Given the description of an element on the screen output the (x, y) to click on. 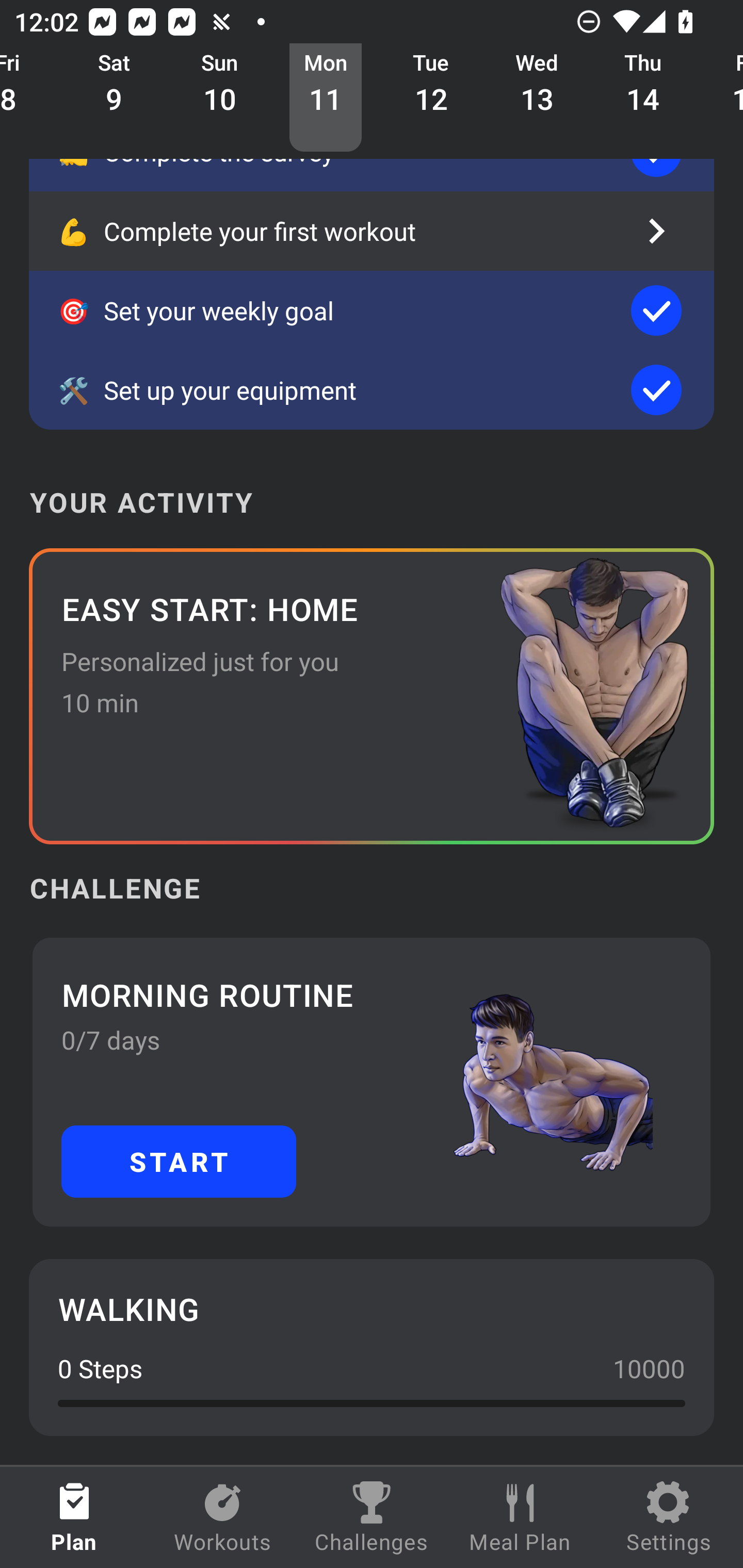
Sat 9 (114, 97)
Sun 10 (219, 97)
Mon 11 (325, 97)
Tue 12 (431, 97)
Wed 13 (536, 97)
Thu 14 (642, 97)
💪 Complete your first workout (371, 231)
EASY START: HOME Personalized just for you 10 min (371, 695)
MORNING ROUTINE 0/7 days START (371, 1082)
START (178, 1161)
WALKING 0 Steps 10000 0.0 (371, 1347)
 Workouts  (222, 1517)
 Challenges  (371, 1517)
 Meal Plan  (519, 1517)
 Settings  (668, 1517)
